Given the description of an element on the screen output the (x, y) to click on. 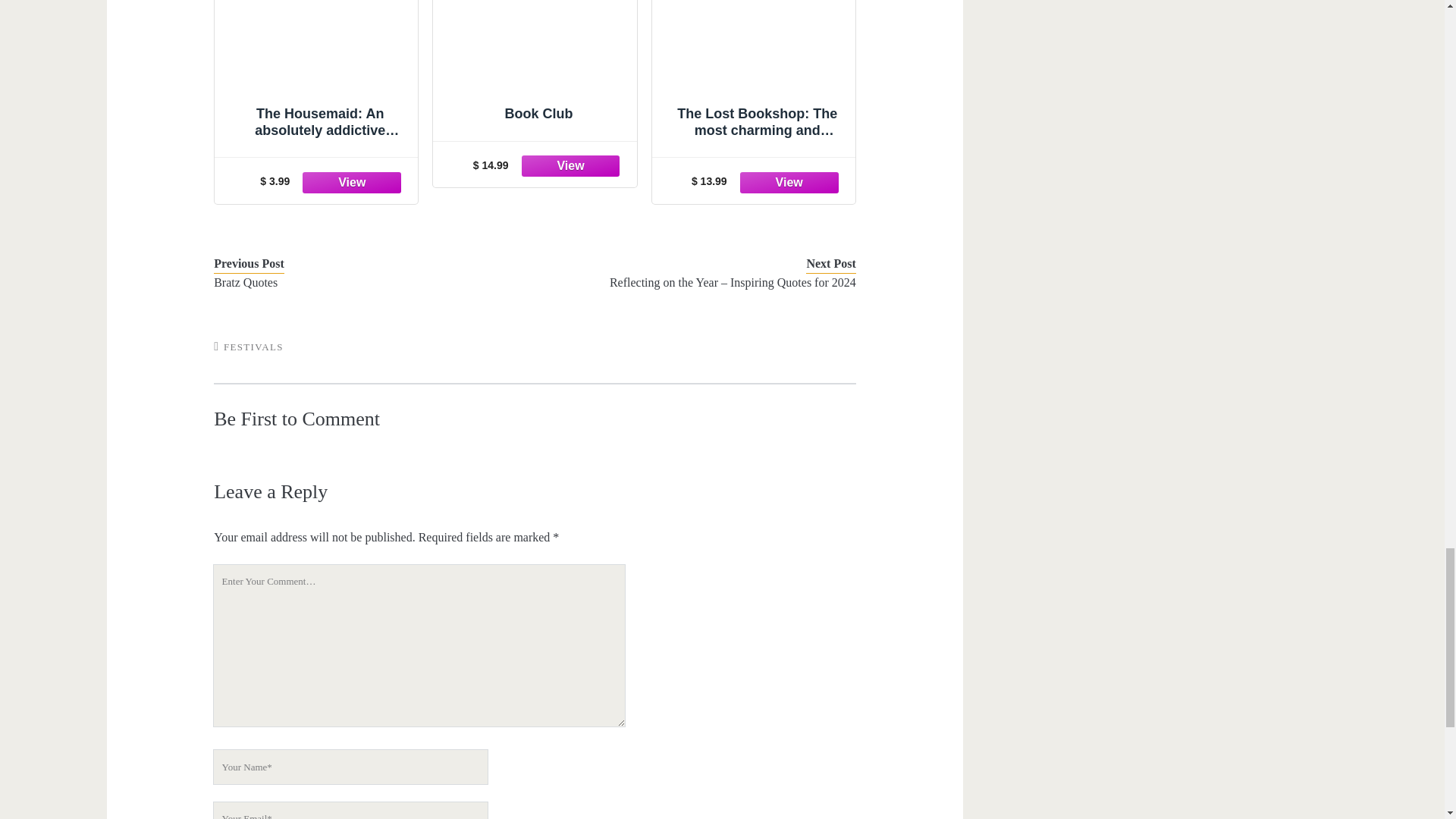
View all posts in Festivals (253, 346)
Book Club (534, 68)
FESTIVALS (253, 346)
Bratz Quotes (361, 282)
